Given the description of an element on the screen output the (x, y) to click on. 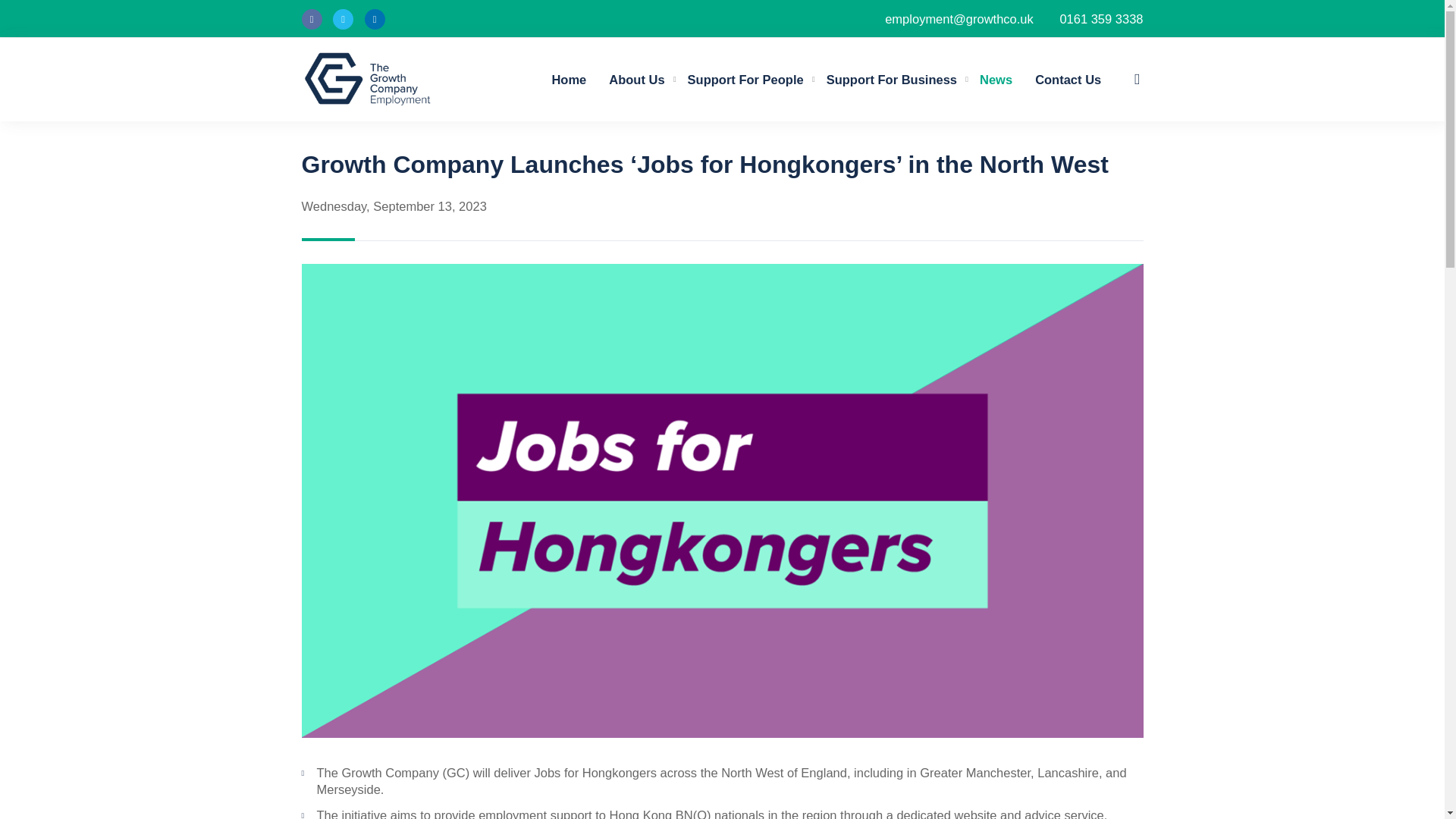
The Growth Company Employment Twitter (343, 19)
The Growth Company Employment LinkedIn (375, 19)
The Growth Company Employment Support for business (891, 79)
Support For People (746, 79)
Support For Business (891, 79)
The Growth Company Employment (366, 79)
Contact Us (1067, 79)
The Growth Company Employment Facebook (311, 19)
Home (568, 79)
The Growth Company Employment About Us (635, 79)
The Growth Company Employment Support for people (746, 79)
News (995, 79)
About Us (635, 79)
